Given the description of an element on the screen output the (x, y) to click on. 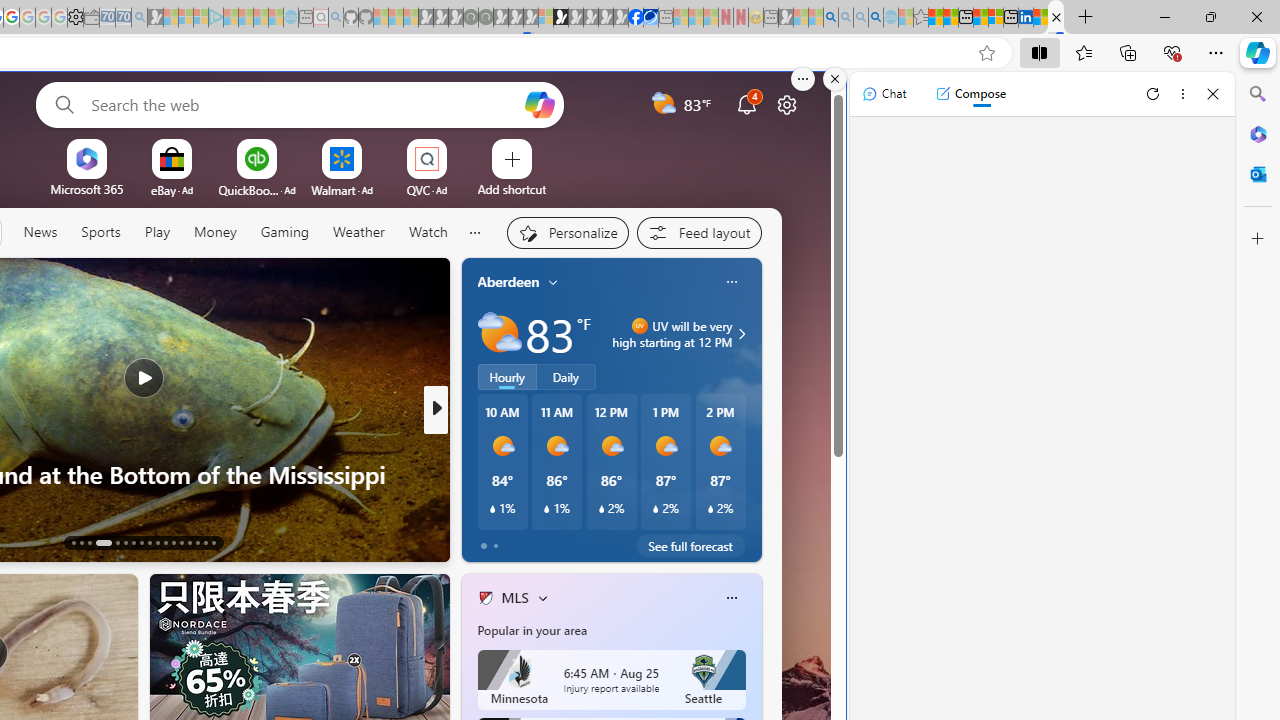
github - Search - Sleeping (336, 17)
Google Chrome Internet Browser Download - Search Images (876, 17)
UV will be very high starting at 12 PM (739, 333)
View comments 2 Comment (573, 541)
CNN (477, 442)
View comments 18 Comment (574, 541)
